Given the description of an element on the screen output the (x, y) to click on. 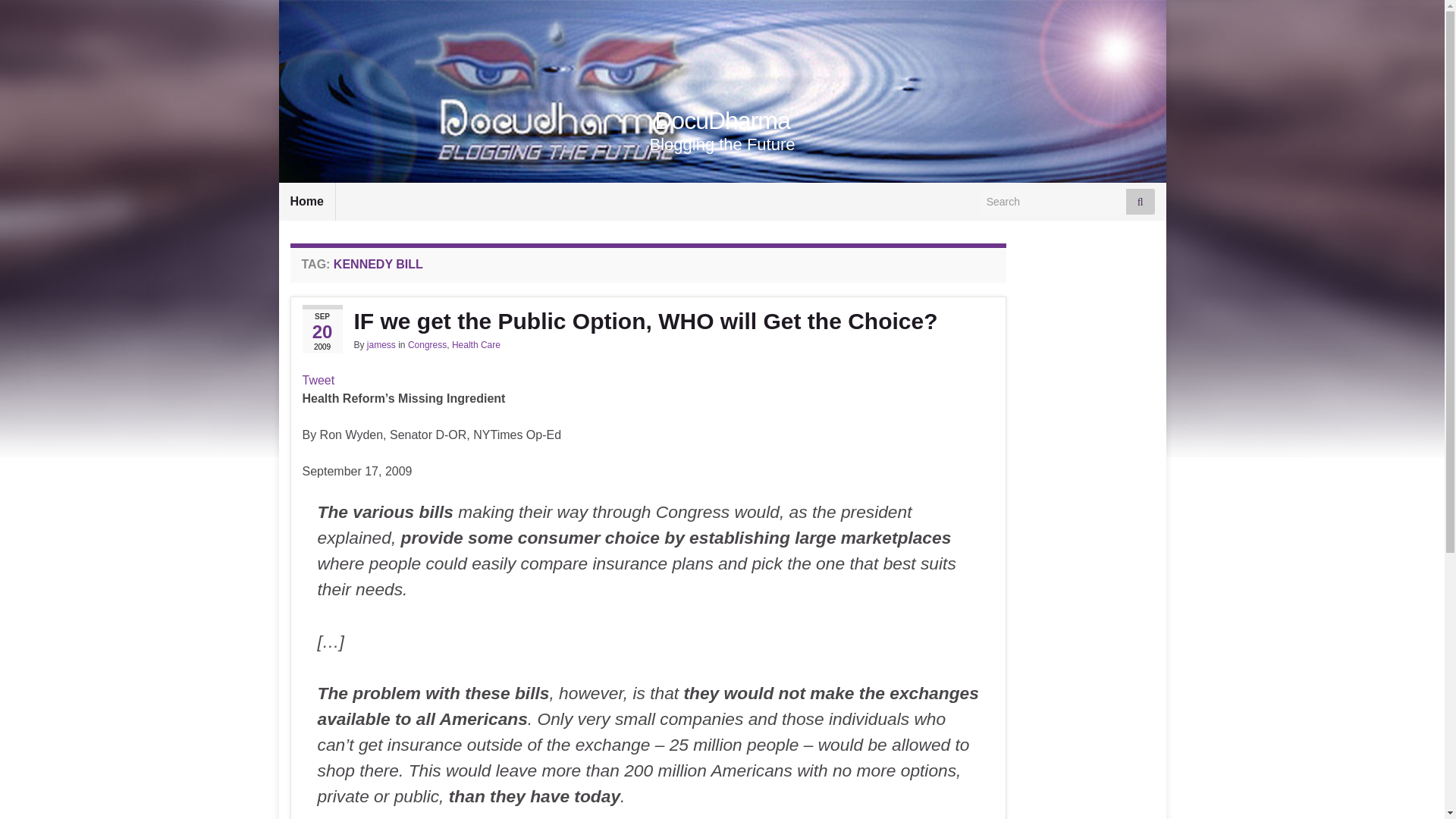
Health Care (475, 344)
Home (306, 201)
Tweet (317, 379)
Congress (426, 344)
IF we get the Public Option, WHO will Get the Choice? (647, 321)
jamess (381, 344)
Go back to the front page (721, 120)
DocuDharma (721, 120)
